Given the description of an element on the screen output the (x, y) to click on. 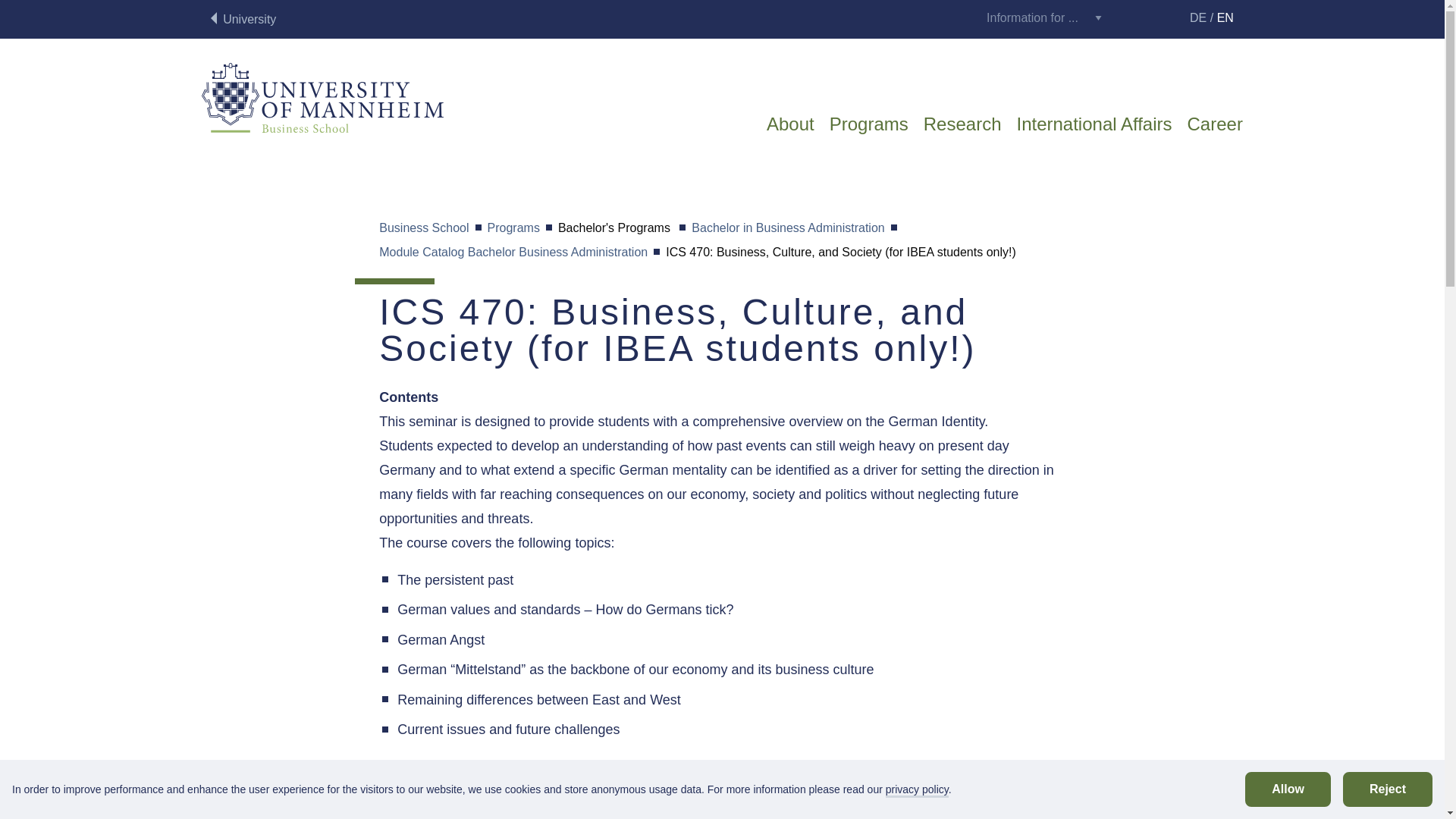
Accessibility (1162, 18)
DE (1198, 17)
Search (1127, 20)
Search (1127, 17)
EN (1225, 18)
University (243, 19)
Programs (868, 132)
Programs (513, 228)
Bachelor in Business Administration (787, 228)
About (790, 132)
